Given the description of an element on the screen output the (x, y) to click on. 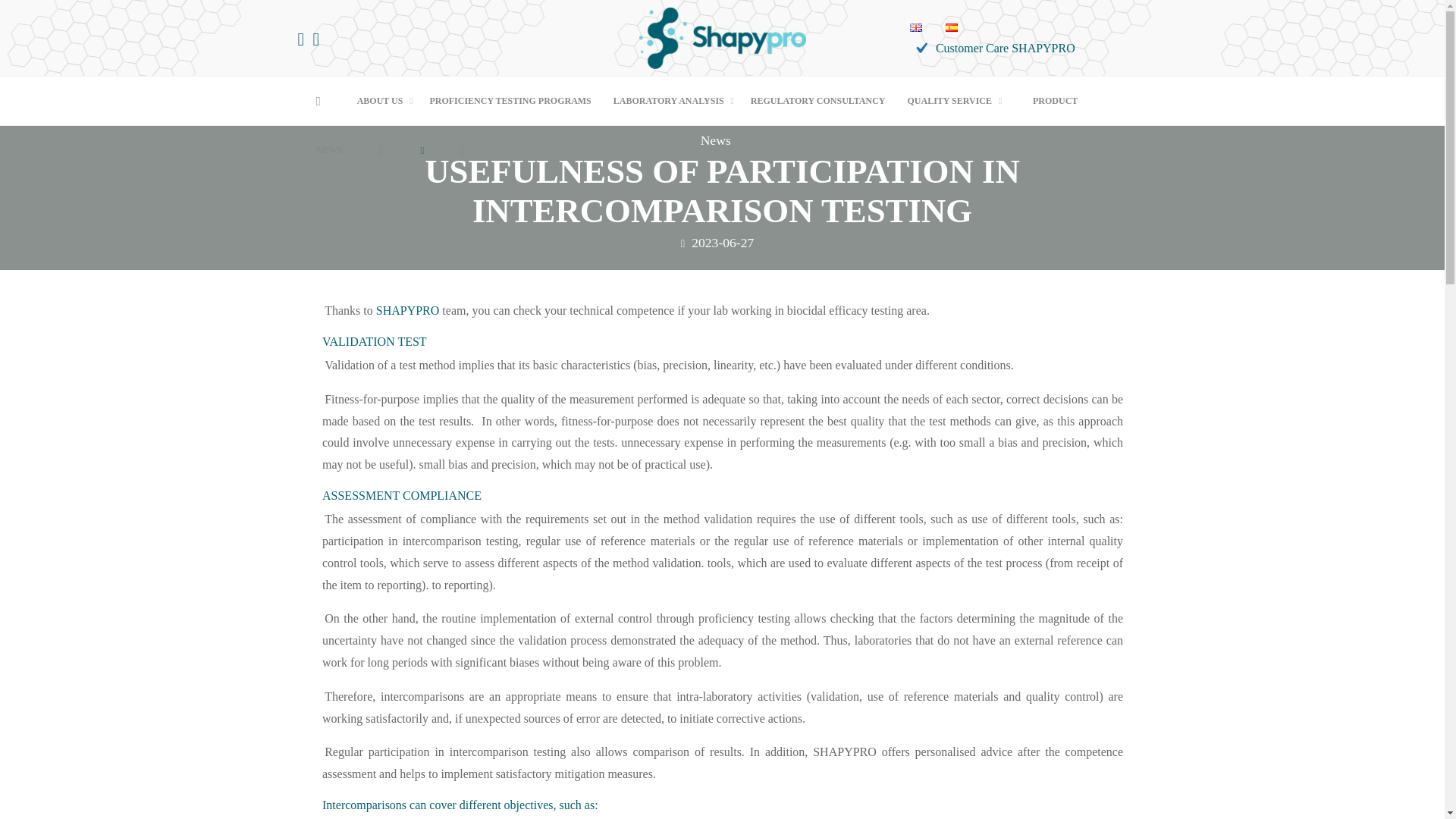
PROFICIENCY TESTING PROGRAMS (509, 101)
ABOUT US (382, 101)
Customer Care SHAPYPRO (992, 48)
Shapypro. Shape your Project (722, 36)
Date (682, 243)
